Given the description of an element on the screen output the (x, y) to click on. 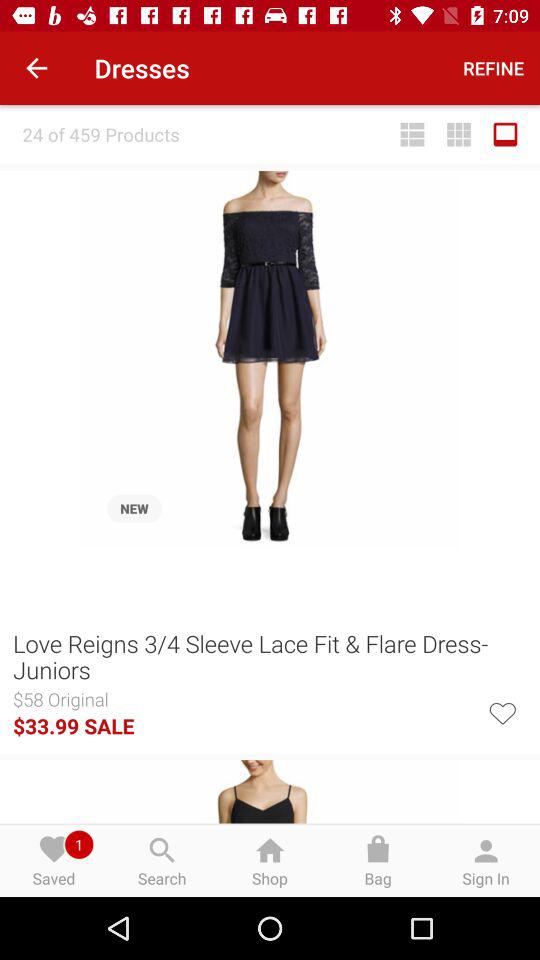
choose the item to the right of 24 of 459 (412, 134)
